Given the description of an element on the screen output the (x, y) to click on. 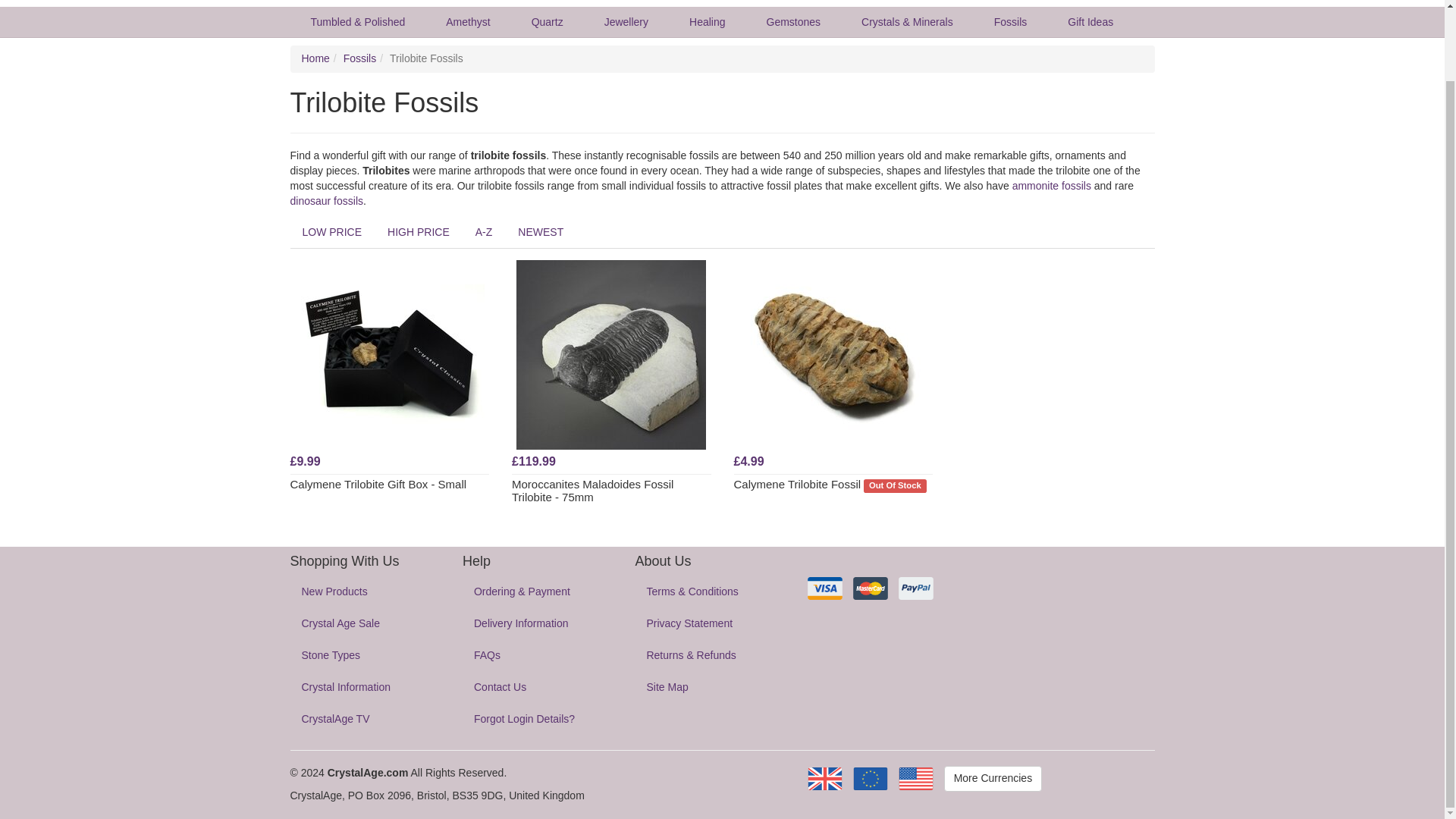
Quartz (547, 21)
Amethyst (468, 21)
